Given the description of an element on the screen output the (x, y) to click on. 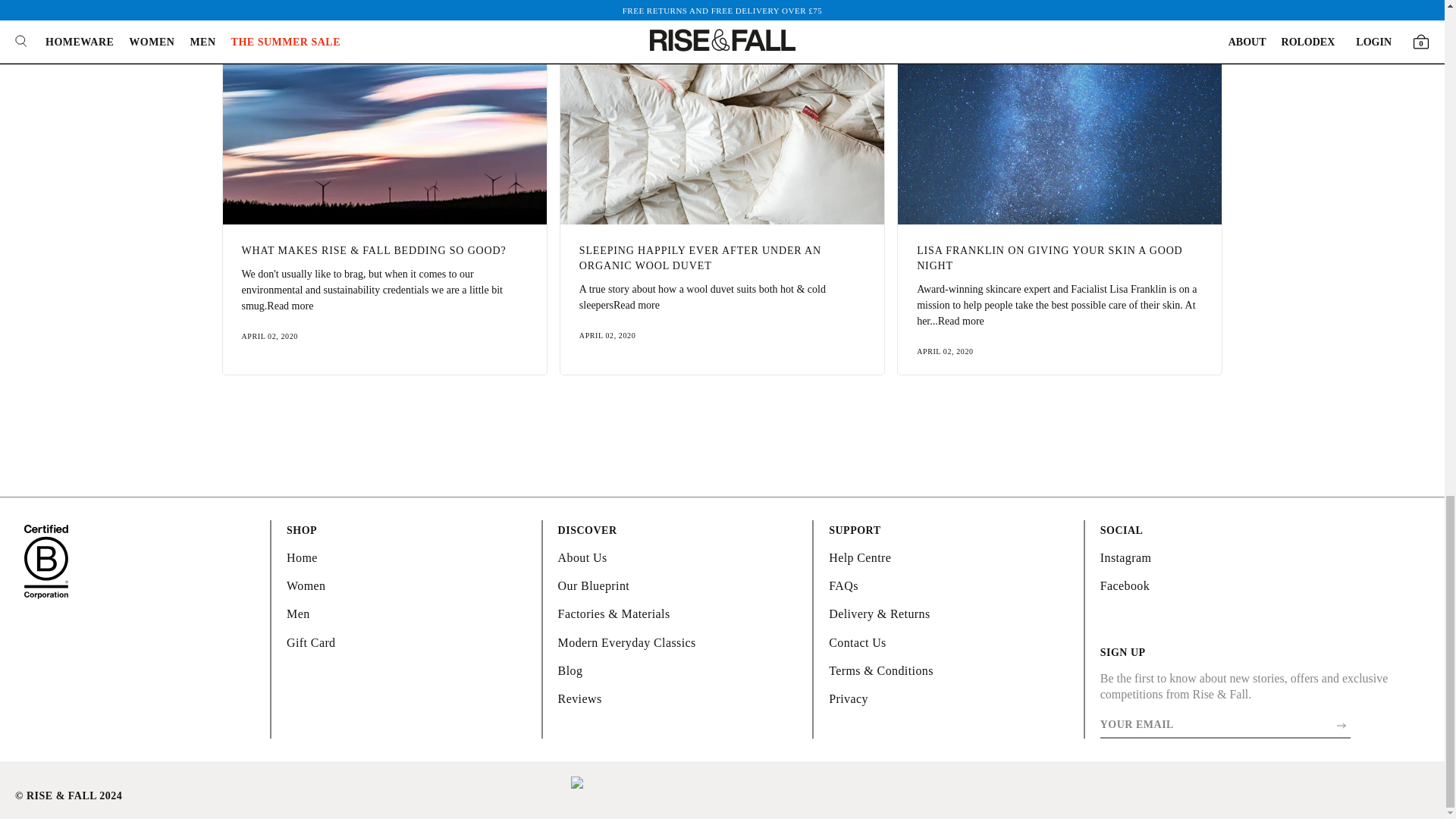
submit (1342, 725)
